Given the description of an element on the screen output the (x, y) to click on. 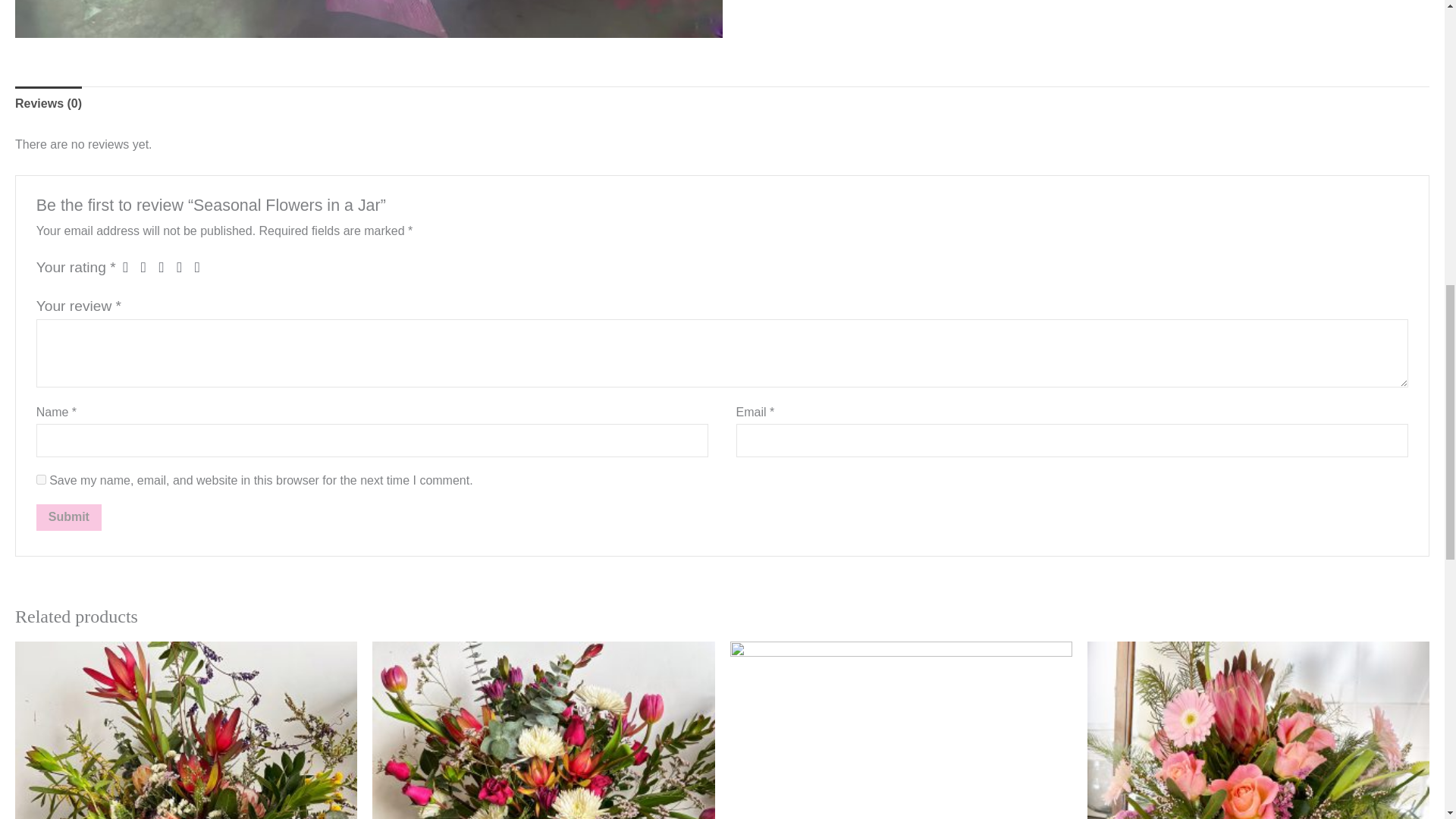
Seasonal flowers in a jar (368, 19)
Submit (68, 517)
yes (41, 479)
